Given the description of an element on the screen output the (x, y) to click on. 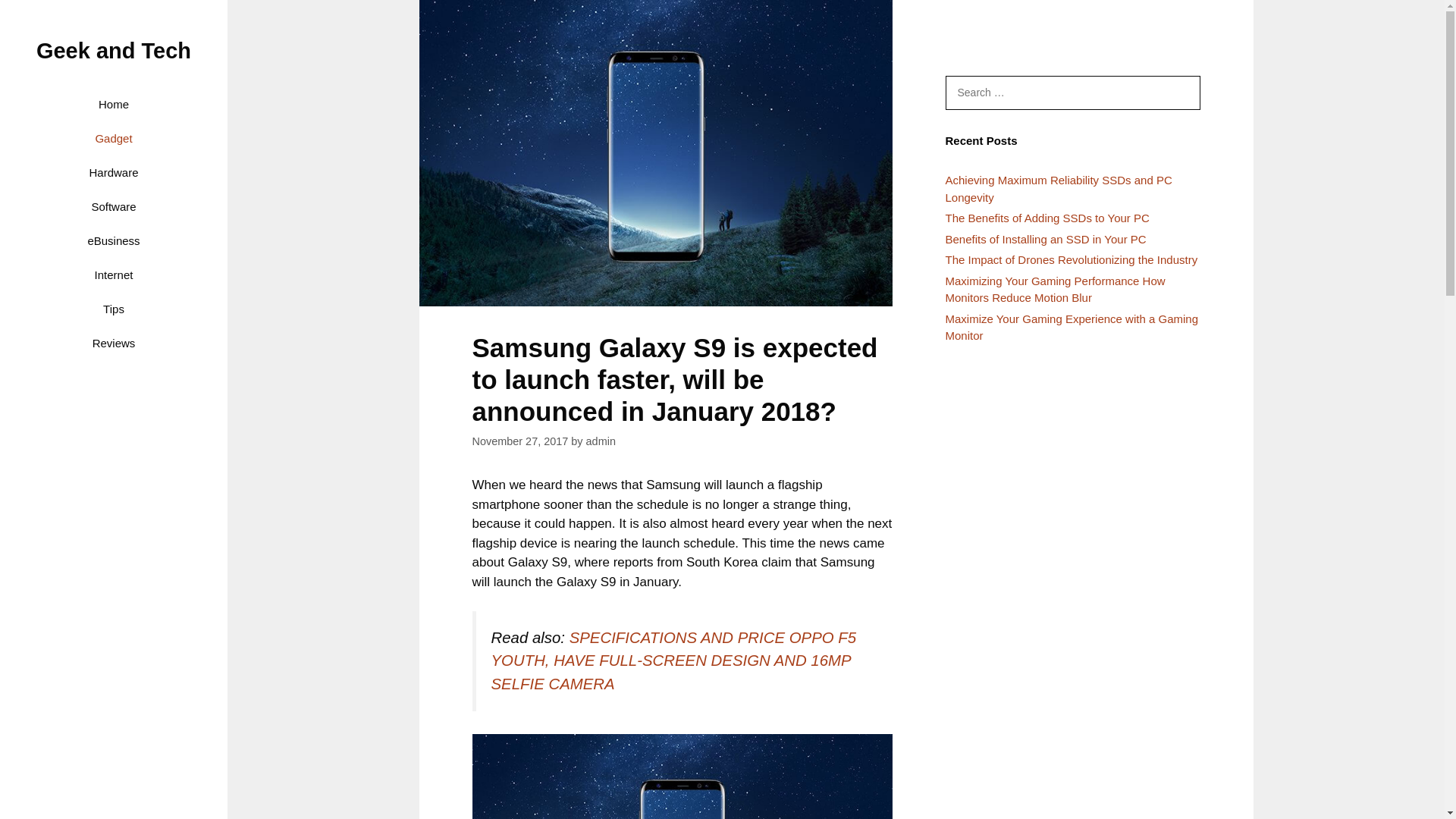
Reviews (112, 342)
Benefits of Installing an SSD in Your PC (1044, 237)
Internet (112, 274)
The Benefits of Adding SSDs to Your PC (1046, 217)
admin (600, 440)
Tips (112, 308)
Achieving Maximum Reliability SSDs and PC Longevity (1058, 188)
Search (32, 15)
View all posts by admin (600, 440)
Software (112, 206)
Gadget (112, 138)
Hardware (112, 172)
Geek and Tech (113, 50)
The Impact of Drones Revolutionizing the Industry (1070, 259)
Search for: (1071, 92)
